Given the description of an element on the screen output the (x, y) to click on. 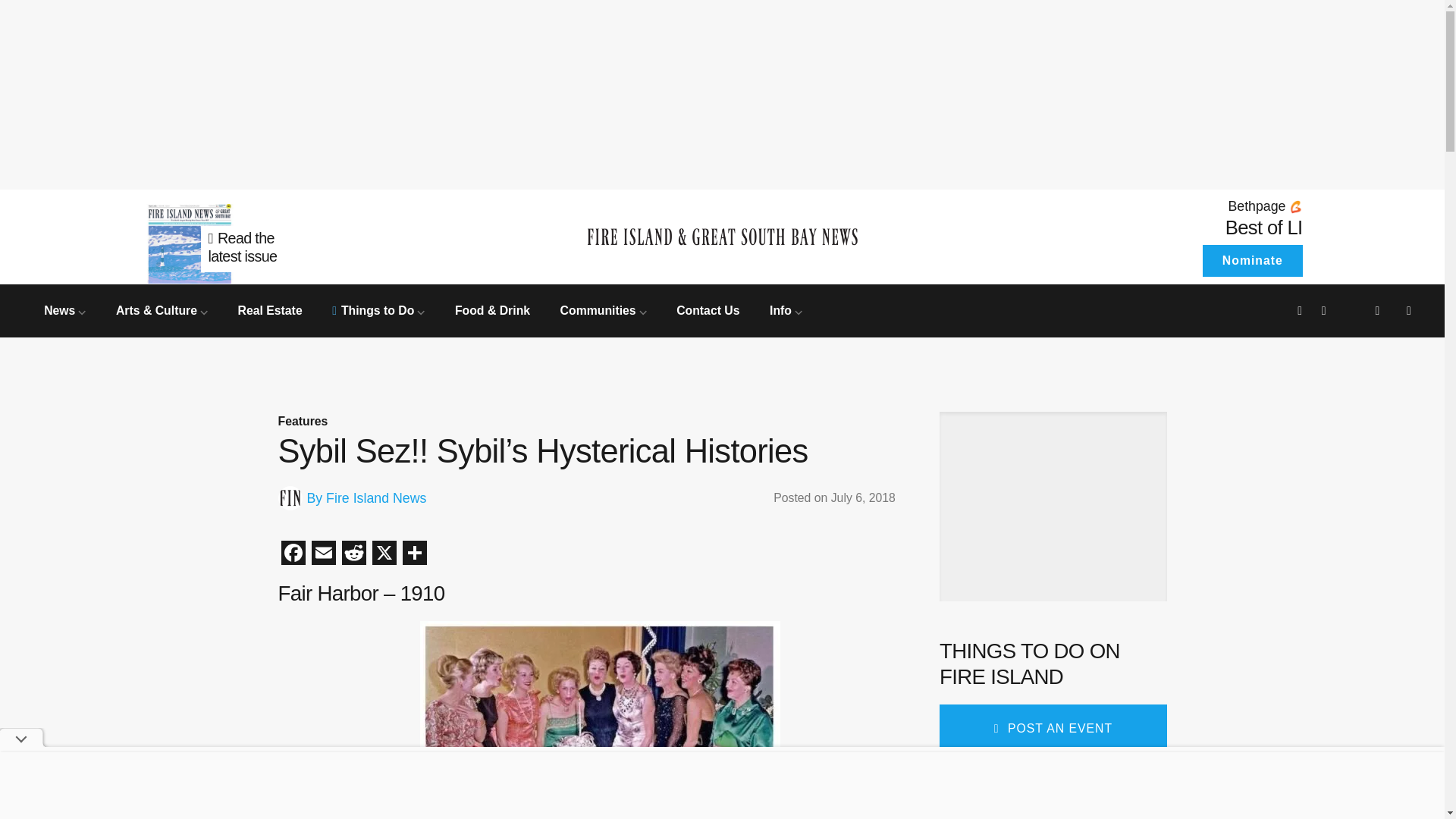
X (383, 554)
Info (786, 309)
Contact Us (708, 309)
Reddit (352, 554)
Communities (603, 309)
Email (322, 554)
Real Estate (270, 309)
Facebook (292, 554)
Presented by Bethpage Federal Credit Union (1166, 206)
News (64, 309)
